Given the description of an element on the screen output the (x, y) to click on. 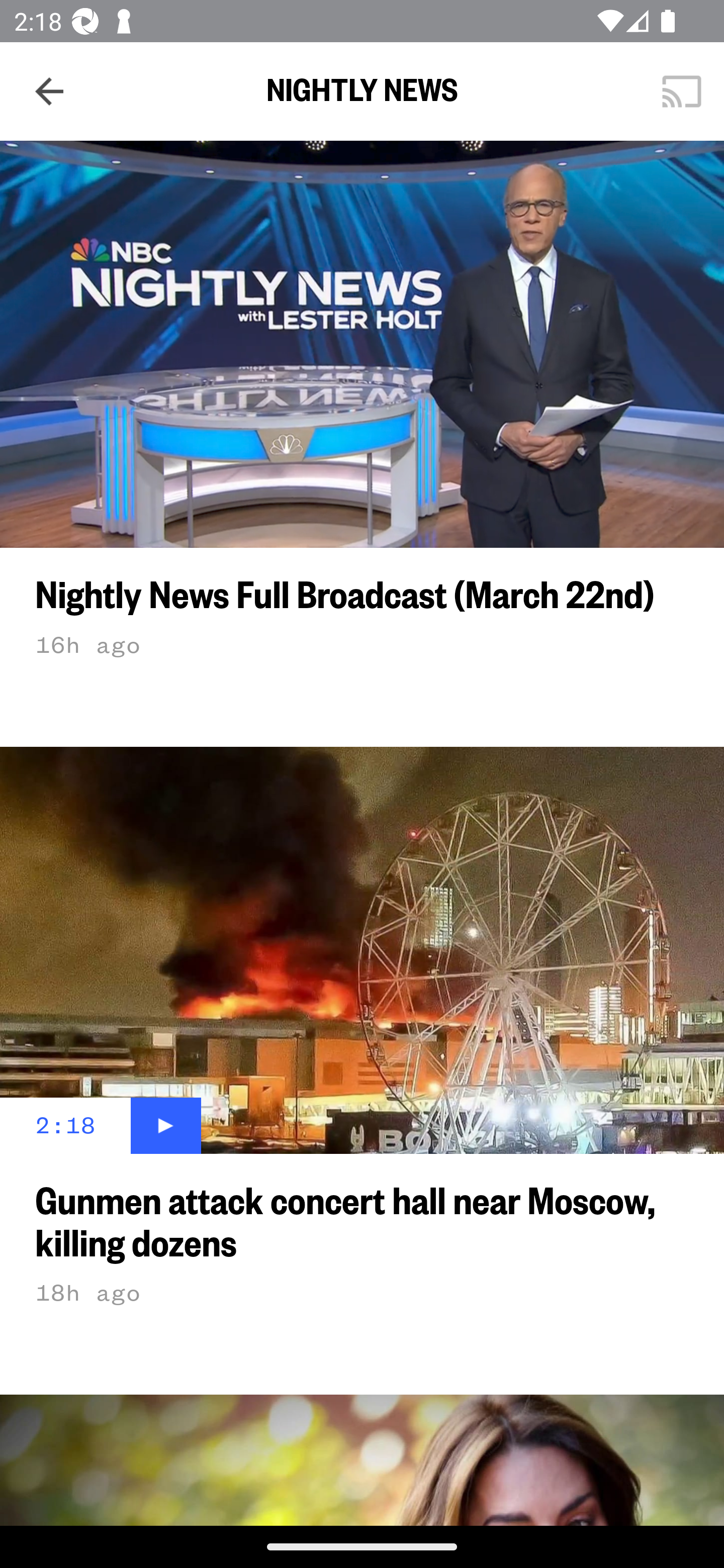
Navigate up (49, 91)
Cast. Disconnected (681, 90)
Video, Nightly News Full Broadcast (March 22nd) (362, 344)
